Given the description of an element on the screen output the (x, y) to click on. 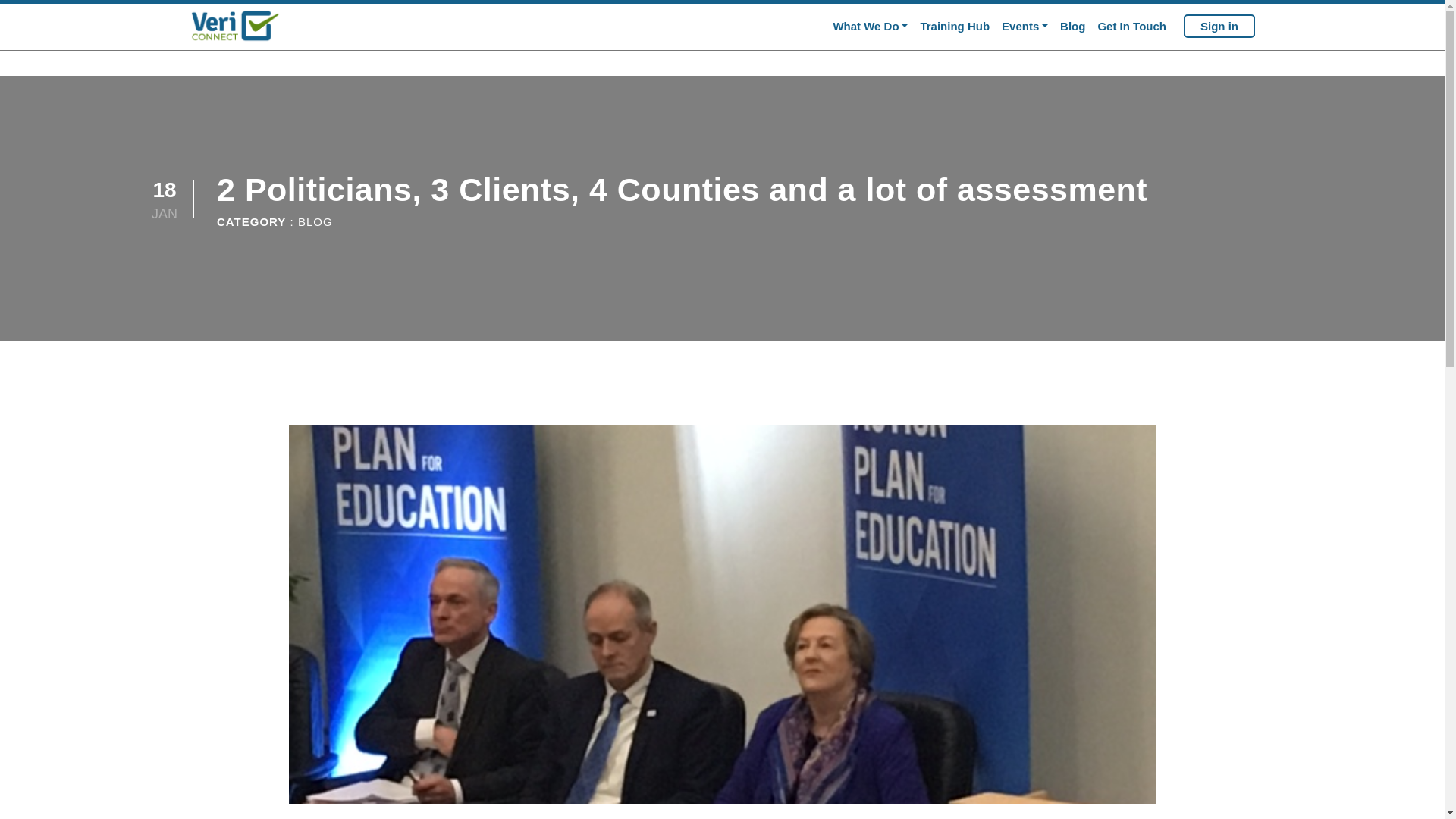
Blog (1072, 26)
BLOG (315, 221)
What We Do (870, 26)
Training Hub (954, 26)
Sign in (1219, 25)
Get In Touch (1131, 26)
Blog (1072, 26)
What We Do (870, 26)
Events (1024, 26)
Events (1024, 26)
Get In Touch (1131, 26)
Training Hub (954, 26)
